Given the description of an element on the screen output the (x, y) to click on. 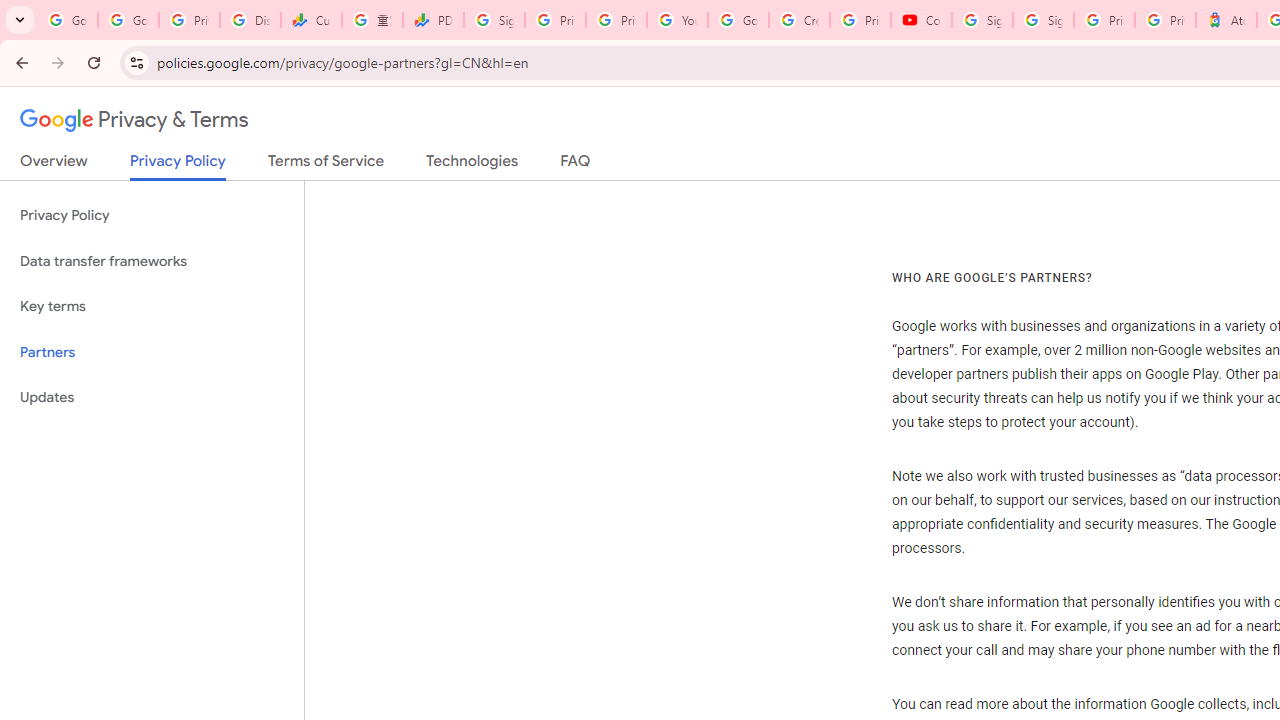
Currencies - Google Finance (310, 20)
Google Workspace Admin Community (67, 20)
